Given the description of an element on the screen output the (x, y) to click on. 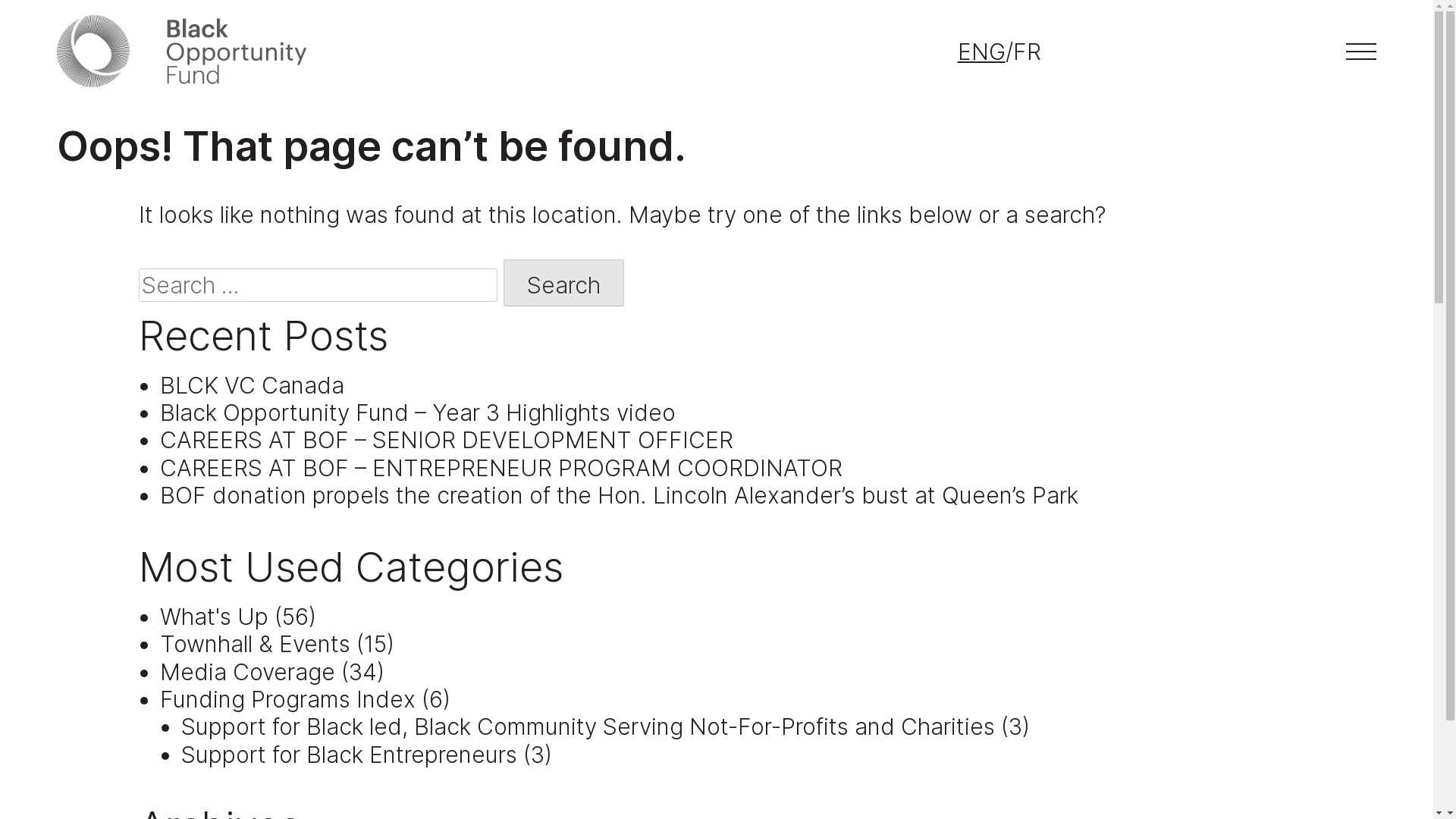
FR Element type: text (1027, 51)
Funding Programs Index Element type: text (287, 698)
What's Up Element type: text (214, 616)
Search Element type: text (563, 282)
BLCK VC Canada Element type: text (252, 384)
Support for Black Entrepreneurs Element type: text (349, 754)
Media Coverage Element type: text (247, 671)
Townhall & Events Element type: text (255, 643)
